Given the description of an element on the screen output the (x, y) to click on. 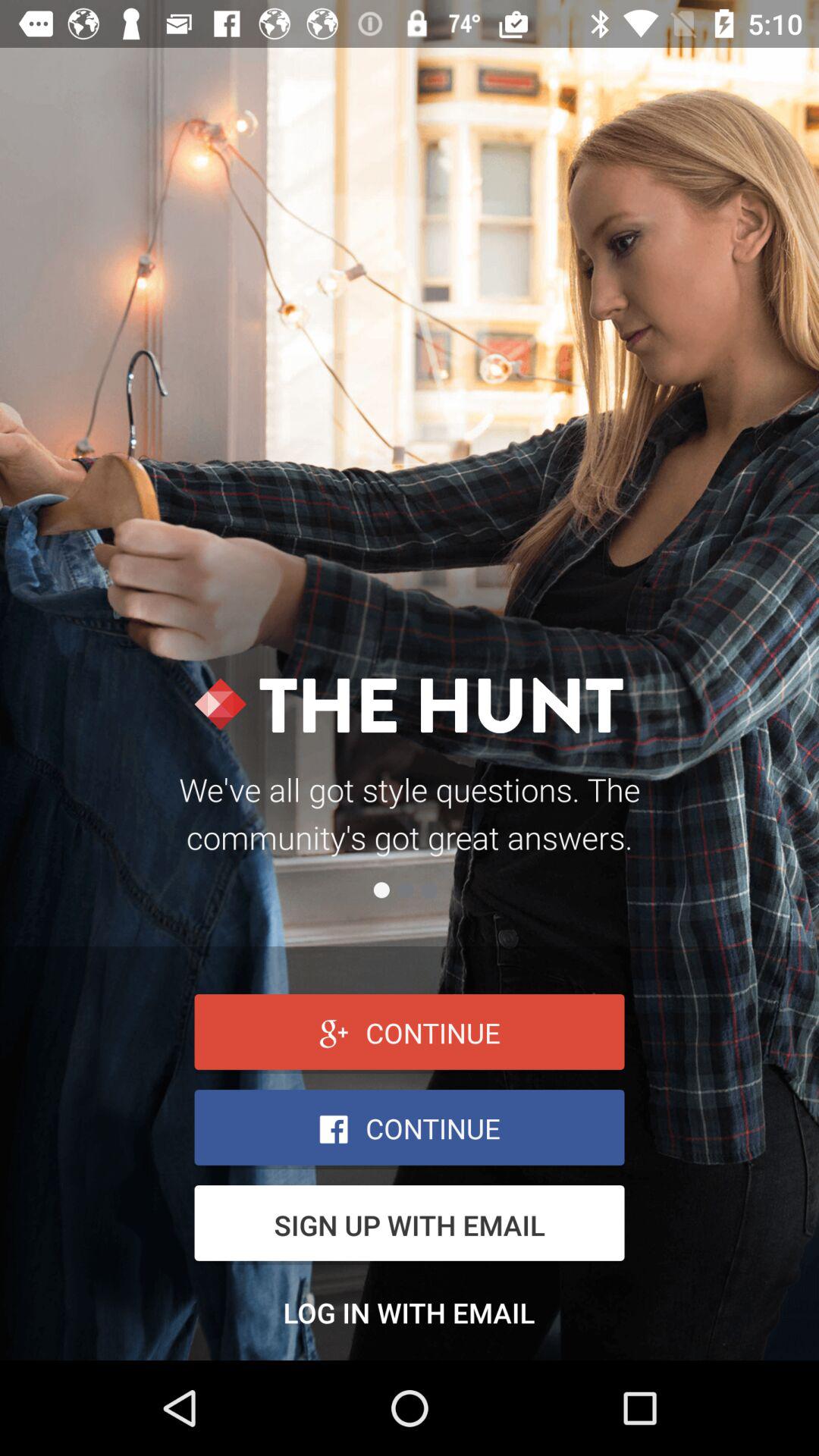
go to continue box (409, 1033)
